Given the description of an element on the screen output the (x, y) to click on. 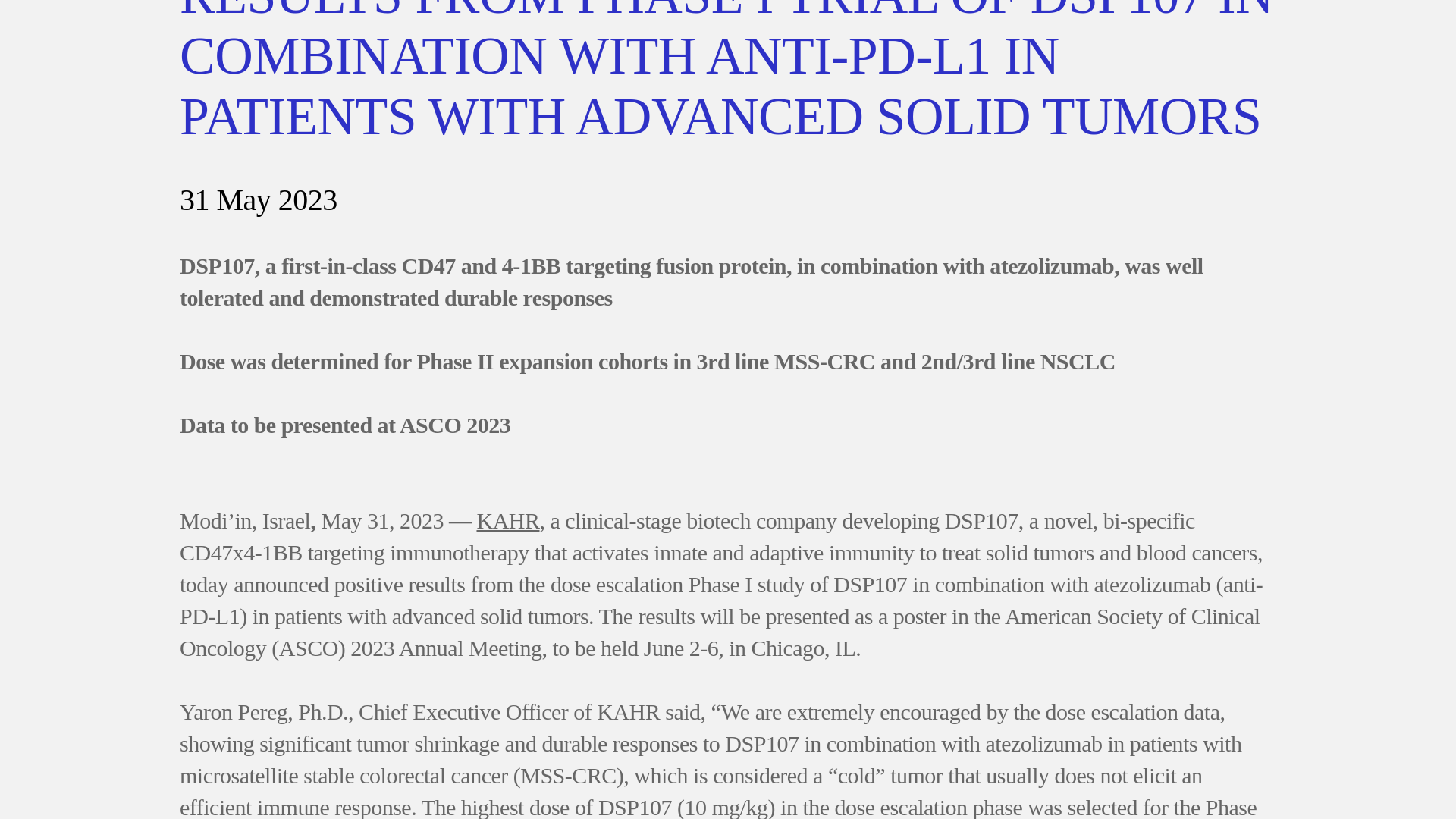
KAHR (507, 520)
